Given the description of an element on the screen output the (x, y) to click on. 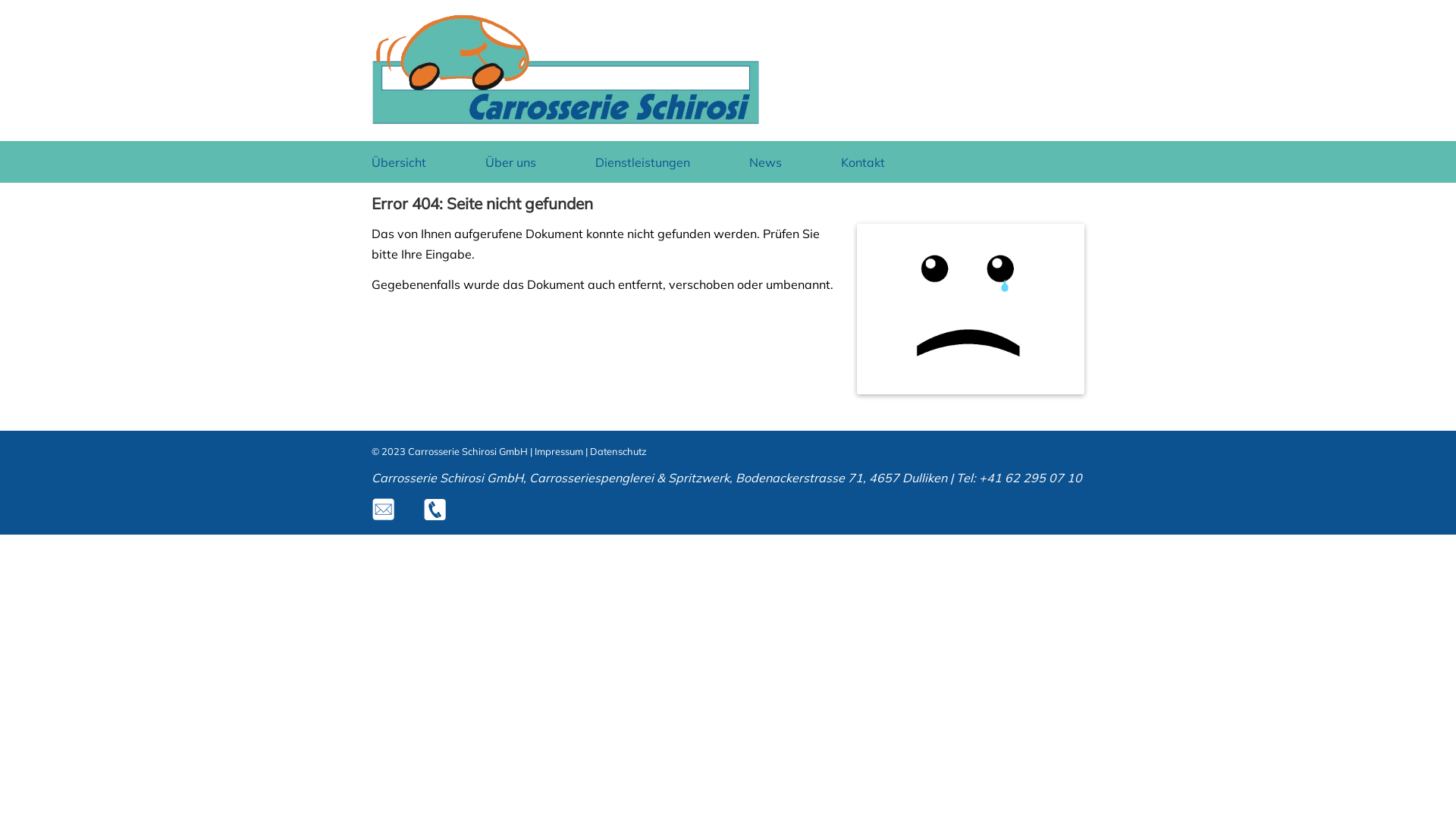
Impressum Element type: text (558, 451)
c Element type: text (435, 509)
Zur Startseite Element type: hover (565, 120)
Datenschutz Element type: text (617, 451)
News Element type: text (769, 161)
Dienstleistungen Element type: text (646, 161)
m Element type: text (383, 509)
Kontakt Element type: text (866, 161)
